Given the description of an element on the screen output the (x, y) to click on. 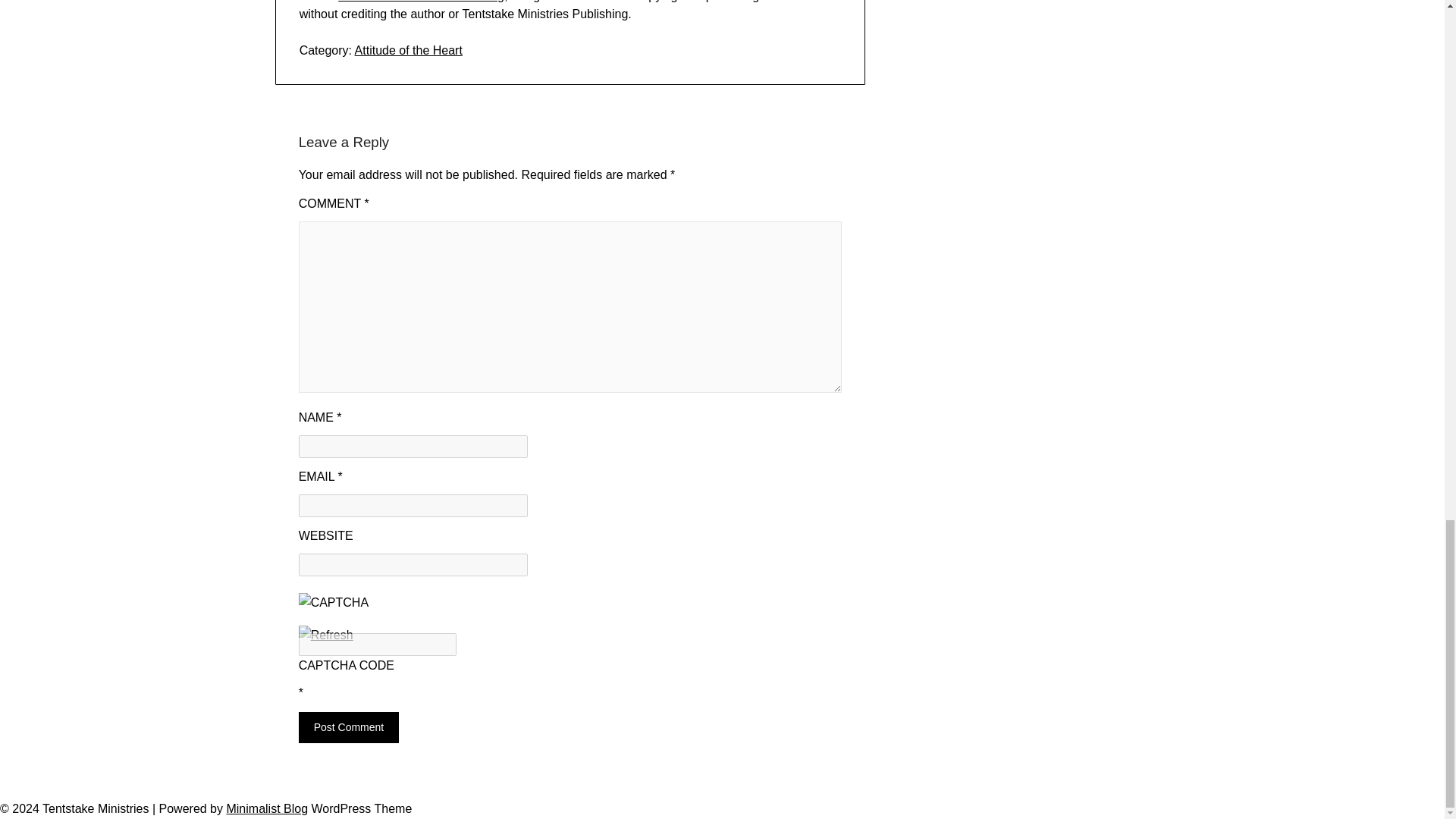
Post Comment (348, 726)
Refresh (325, 634)
CAPTCHA (348, 608)
